Given the description of an element on the screen output the (x, y) to click on. 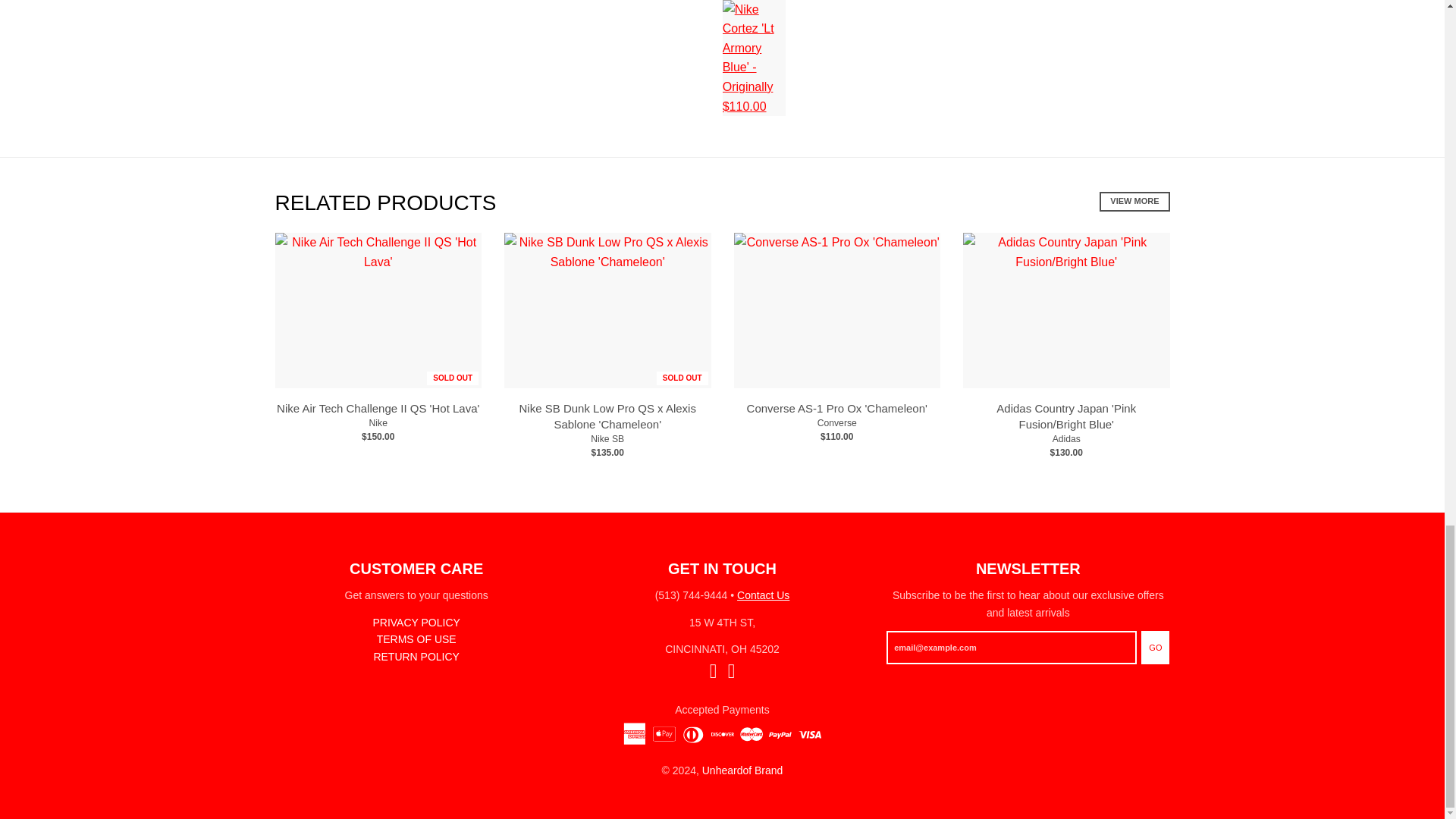
Adidas (1066, 439)
Nike SB (607, 439)
Nike (378, 422)
Converse (836, 422)
